Given the description of an element on the screen output the (x, y) to click on. 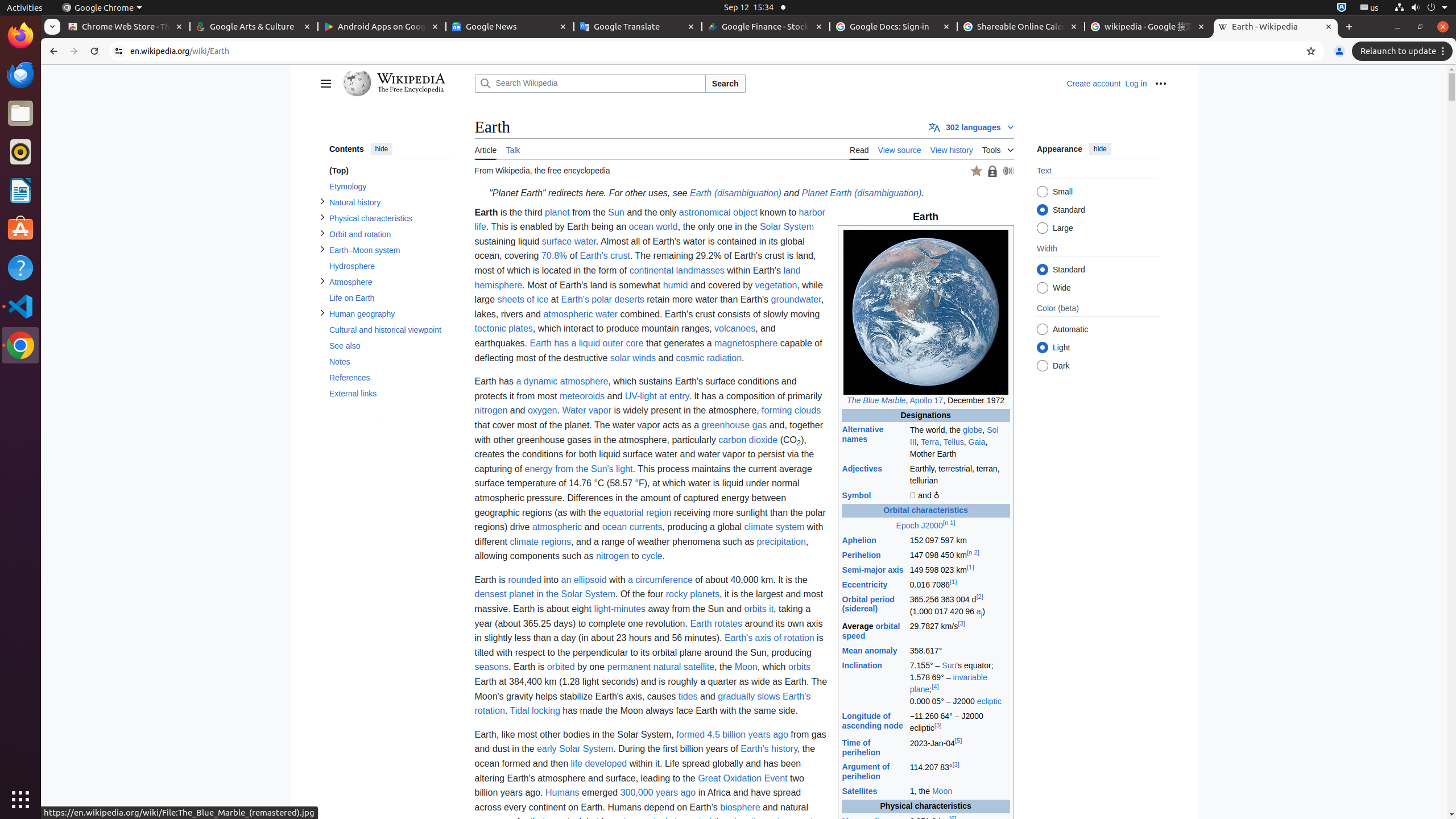
Help Element type: push-button (20, 267)
Toggle Orbit and rotation subsection Element type: push-button (321, 233)
System Element type: menu (1420, 7)
View history Element type: link (951, 148)
Toggle Human geography subsection Element type: push-button (321, 312)
